Given the description of an element on the screen output the (x, y) to click on. 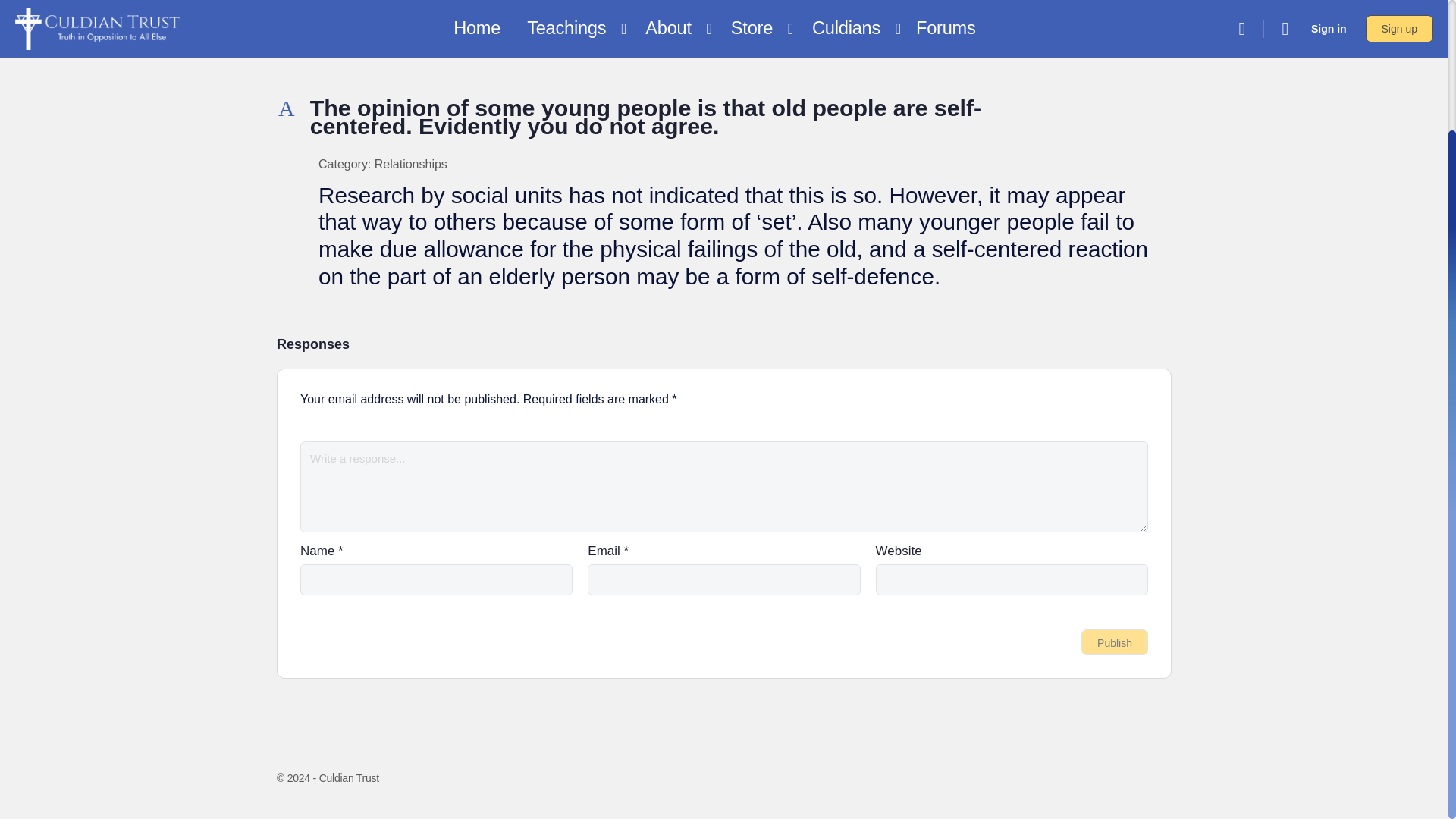
Publish (1114, 642)
